Given the description of an element on the screen output the (x, y) to click on. 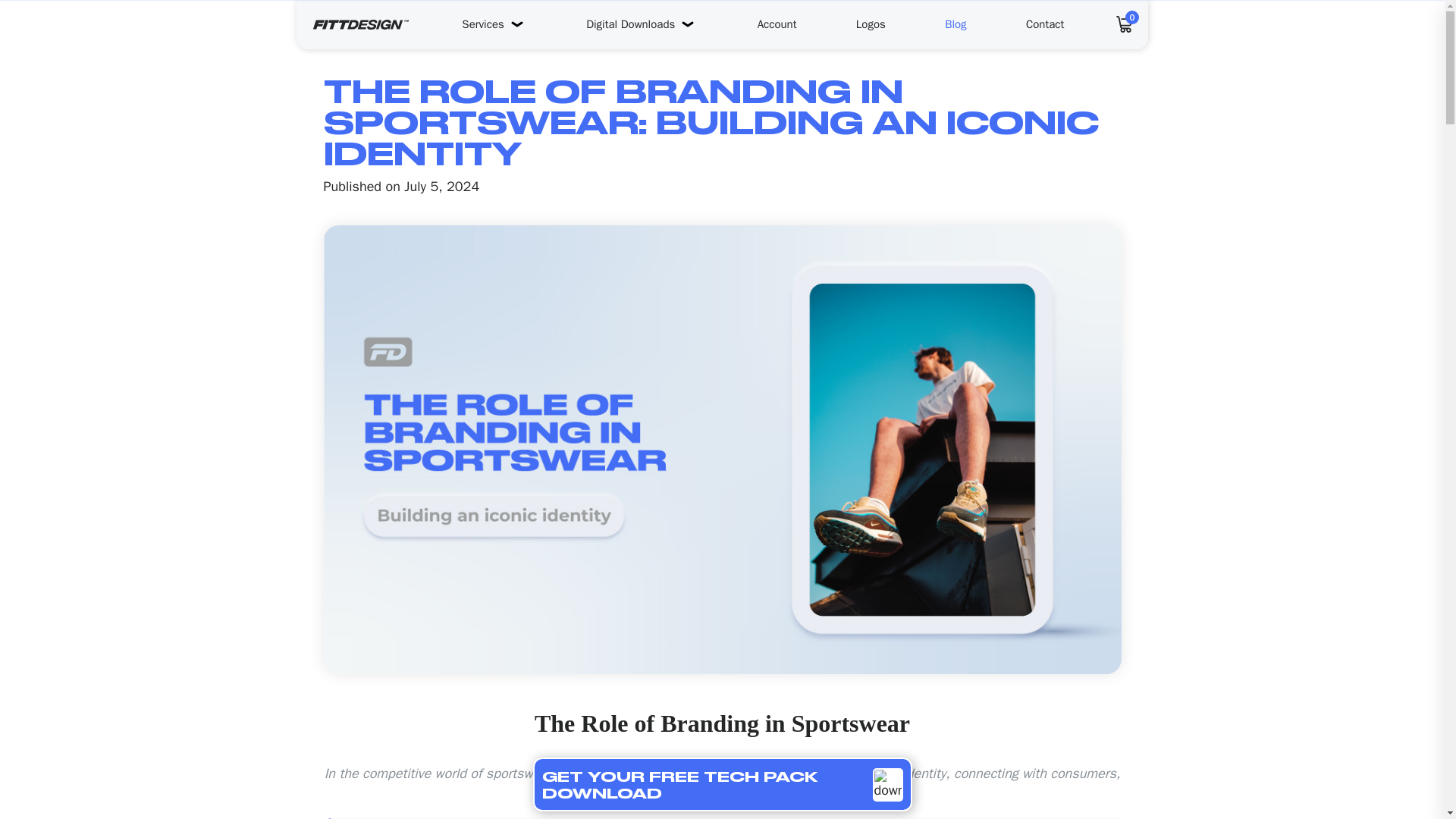
Logos (870, 23)
Account (777, 23)
Contact (1044, 23)
0 (1131, 17)
